Given the description of an element on the screen output the (x, y) to click on. 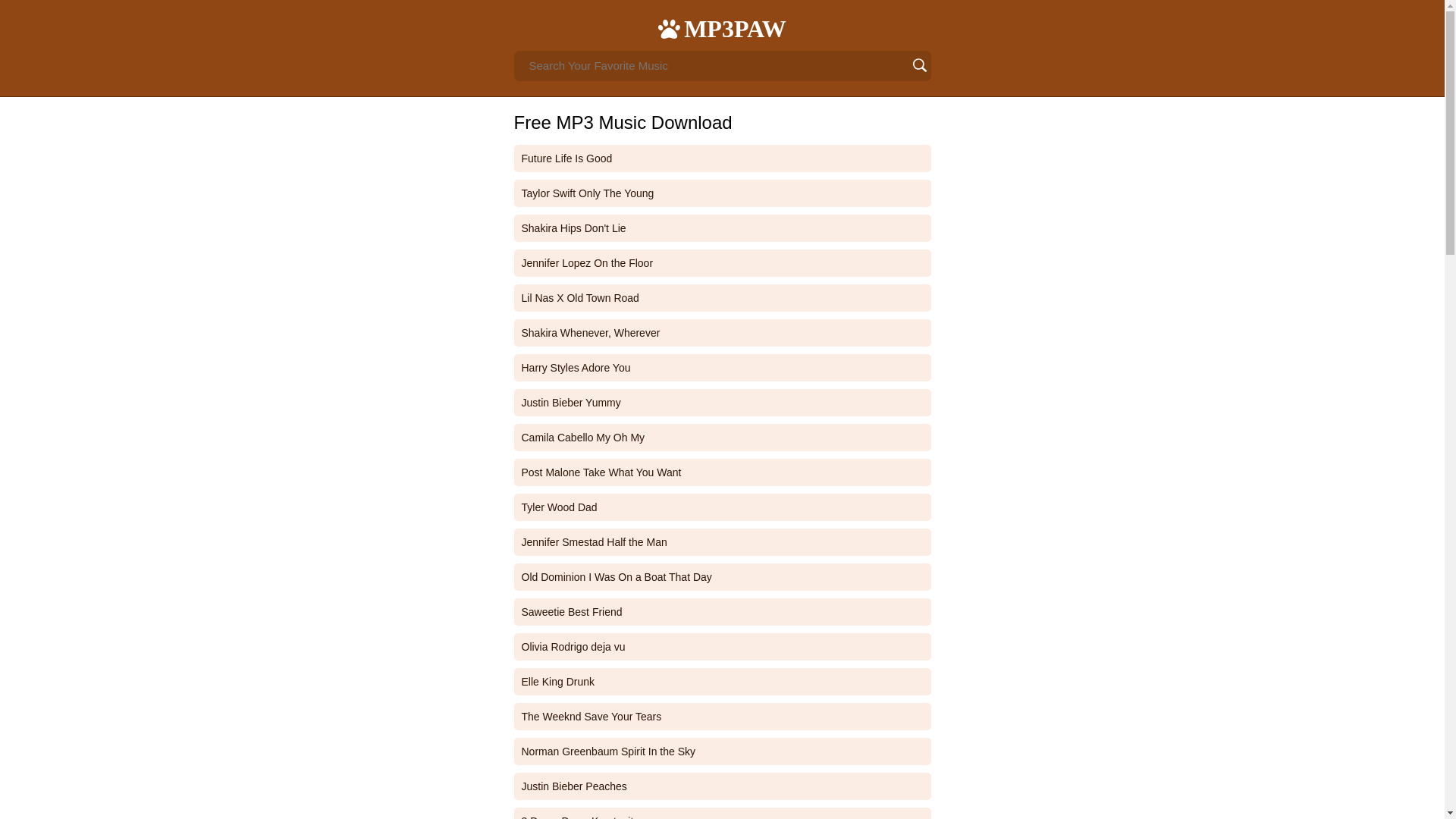
The Weeknd Save Your Tears (722, 716)
Saweetie Best Friend (722, 611)
Lil Nas X Old Town Road (722, 298)
MP3Paw - Download MP3 Music (722, 122)
Olivia Rodrigo deja vu MP3 Music Download (722, 646)
Shakira Hips Don't Lie (722, 227)
Shakira Hips Don't Lie MP3 Music Download (722, 227)
Tyler Wood Dad MP3 Music Download (722, 506)
3 Doors Down Kryptonite (722, 813)
Elle King Drunk MP3 Music Download (722, 681)
Future Life Is Good MP3 Music Download (722, 157)
Jennifer Lopez On the Floor MP3 Music Download (722, 262)
Justin Bieber Yummy MP3 Music Download (722, 402)
MP3Paw - Download MP3 Music (735, 29)
Olivia Rodrigo deja vu (722, 646)
